Given the description of an element on the screen output the (x, y) to click on. 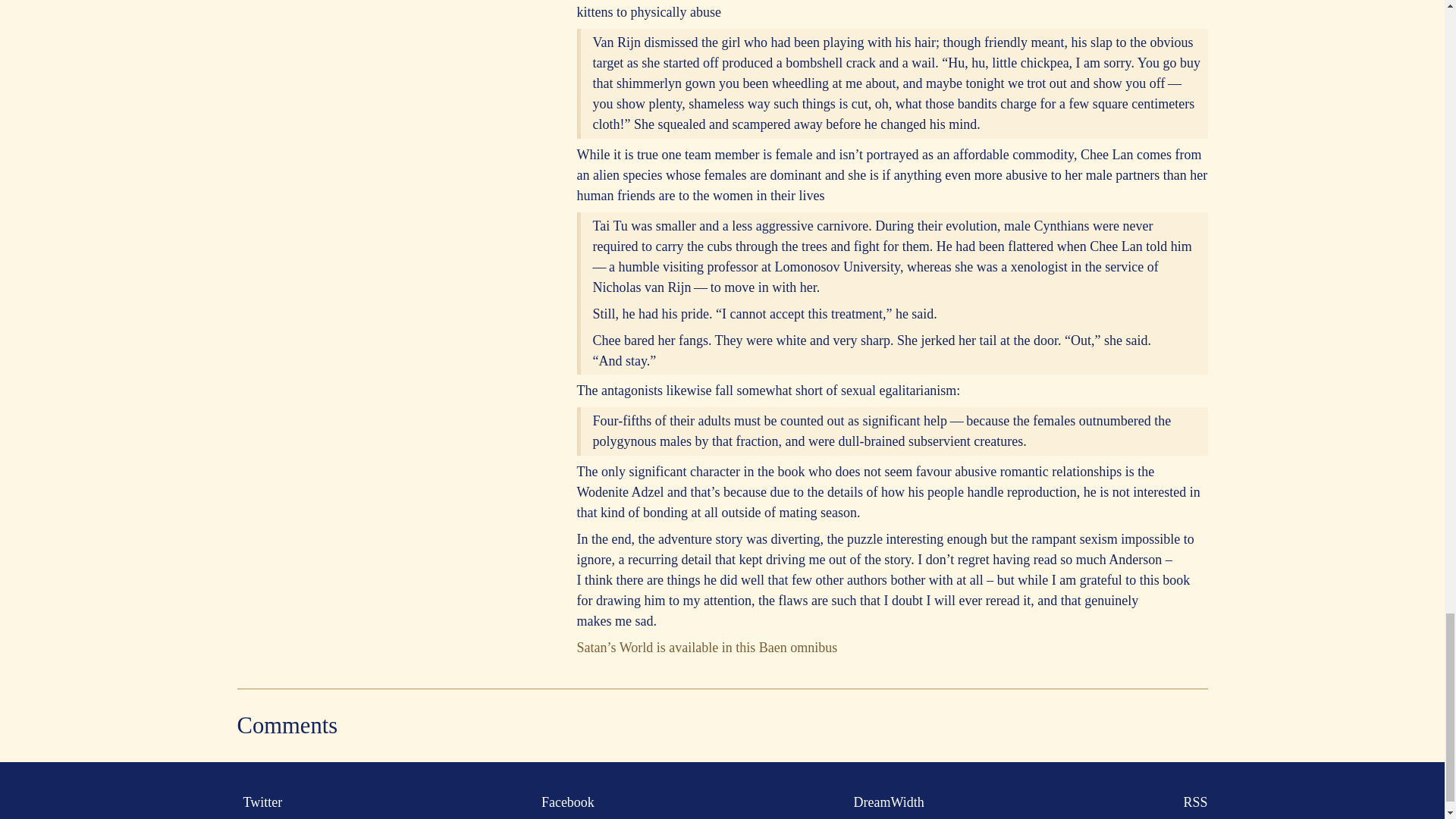
Twitter (258, 801)
Facebook (564, 801)
DreamWidth (885, 801)
RSS (1191, 801)
